Given the description of an element on the screen output the (x, y) to click on. 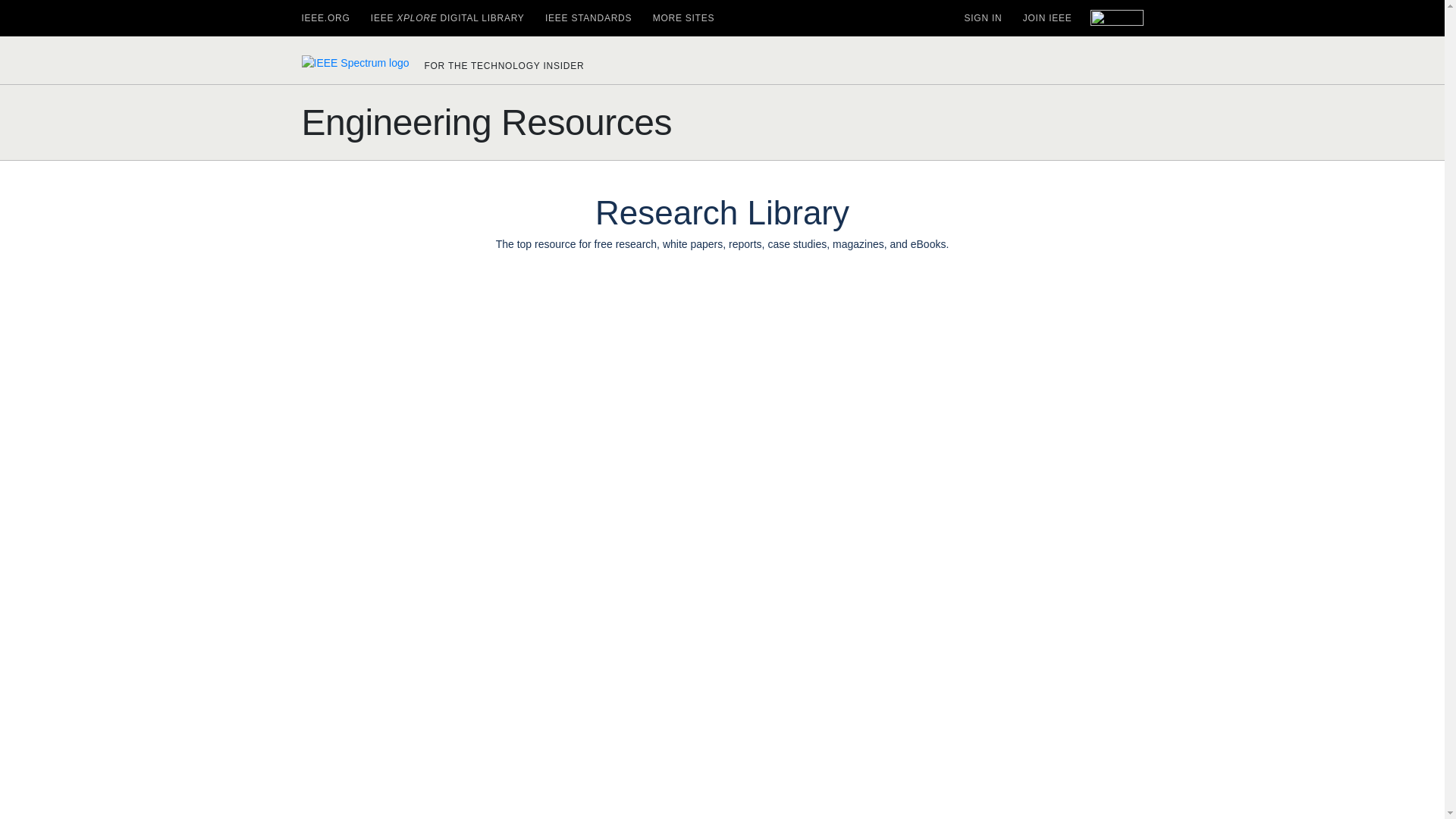
IEEE XPLORE DIGITAL LIBRARY (447, 18)
MORE SITES (683, 18)
JOIN IEEE (1047, 18)
SIGN IN (982, 18)
IEEE.ORG (325, 18)
IEEE STANDARDS (587, 18)
